Given the description of an element on the screen output the (x, y) to click on. 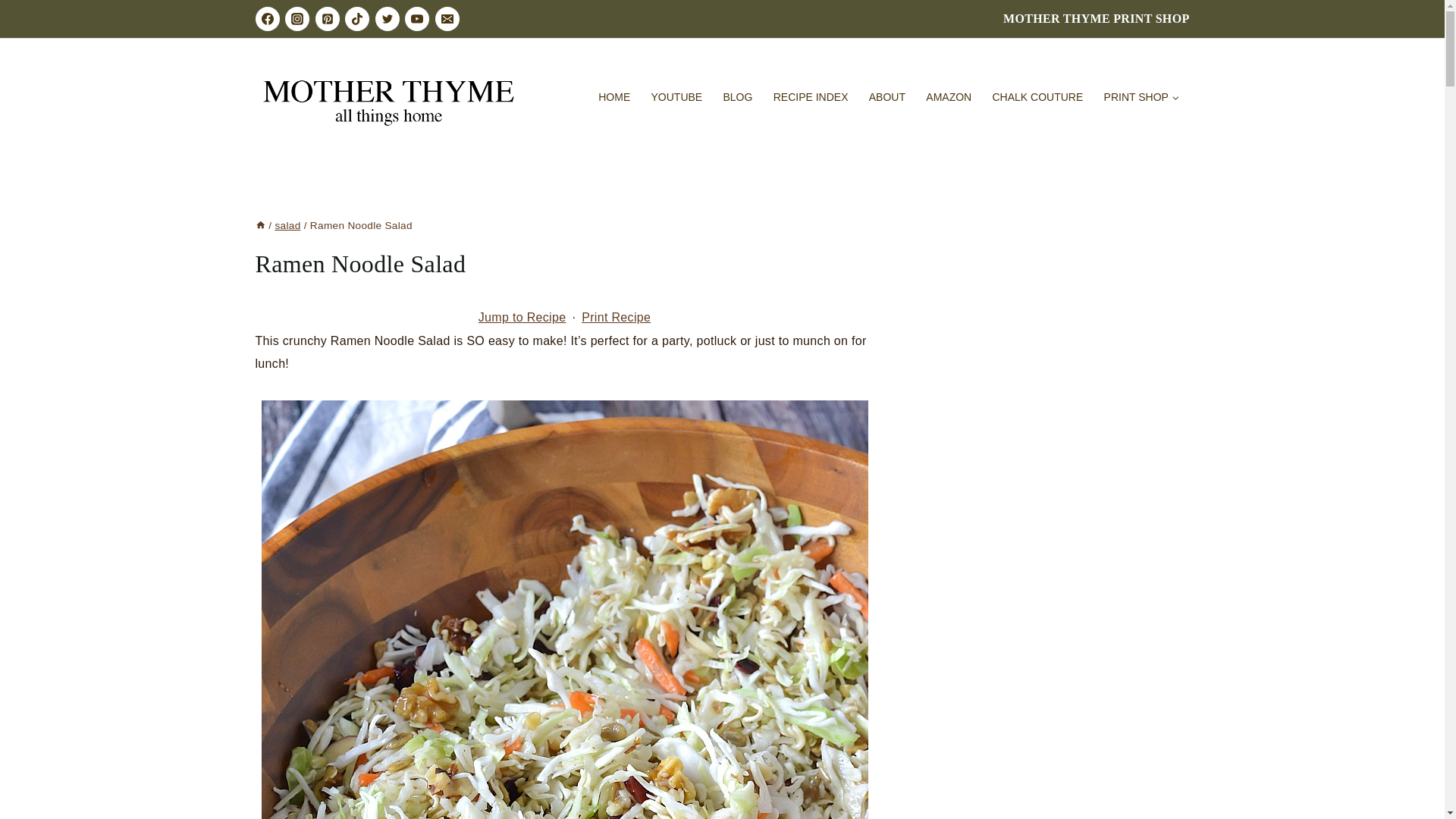
CHALK COUTURE (1037, 96)
HOME (614, 96)
YOUTUBE (676, 96)
BLOG (737, 96)
Print Recipe (615, 317)
AMAZON (948, 96)
salad (287, 225)
RECIPE INDEX (810, 96)
PRINT SHOP (1141, 96)
MOTHER THYME PRINT SHOP (1096, 18)
